Given the description of an element on the screen output the (x, y) to click on. 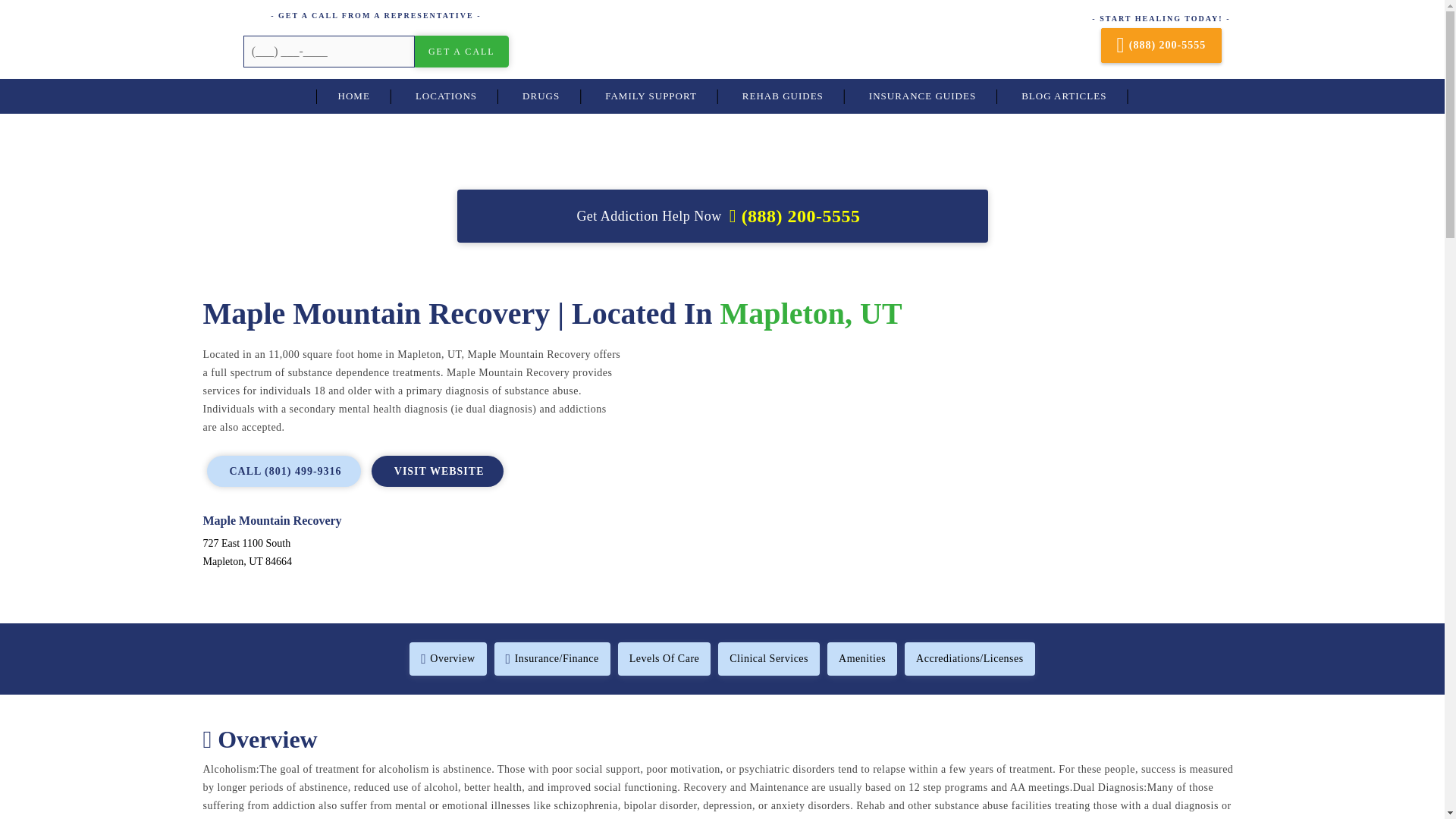
Clinical Services (768, 658)
LOCATIONS (446, 95)
INSURANCE GUIDES (921, 95)
DRUGS (540, 95)
Levels Of Care (664, 658)
Get a Call (461, 51)
Get a Call (461, 51)
Amenities (861, 658)
VISIT WEBSITE (437, 470)
